Given the description of an element on the screen output the (x, y) to click on. 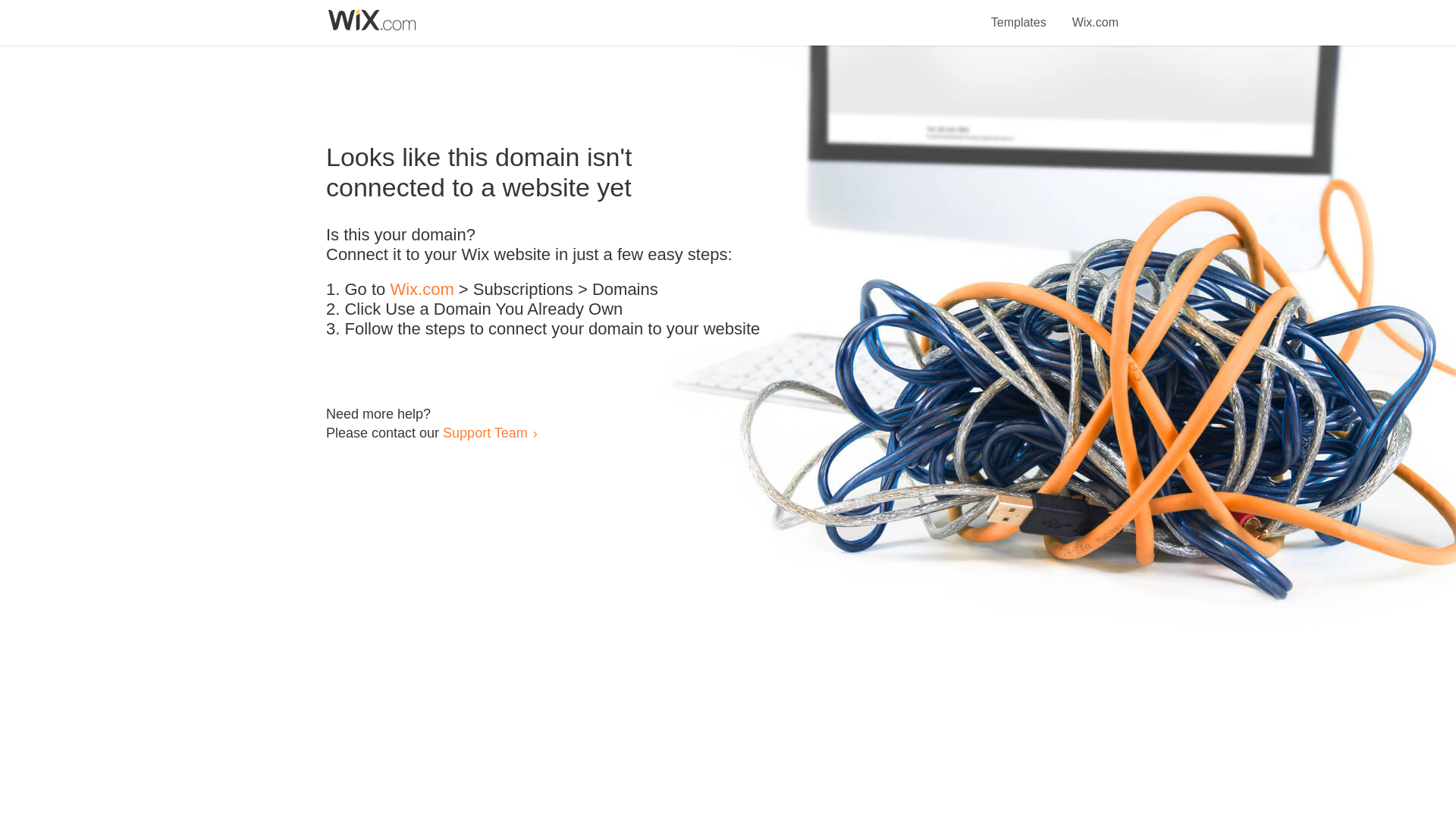
Support Team (484, 432)
Wix.com (1095, 14)
Templates (1018, 14)
Wix.com (421, 289)
